Given the description of an element on the screen output the (x, y) to click on. 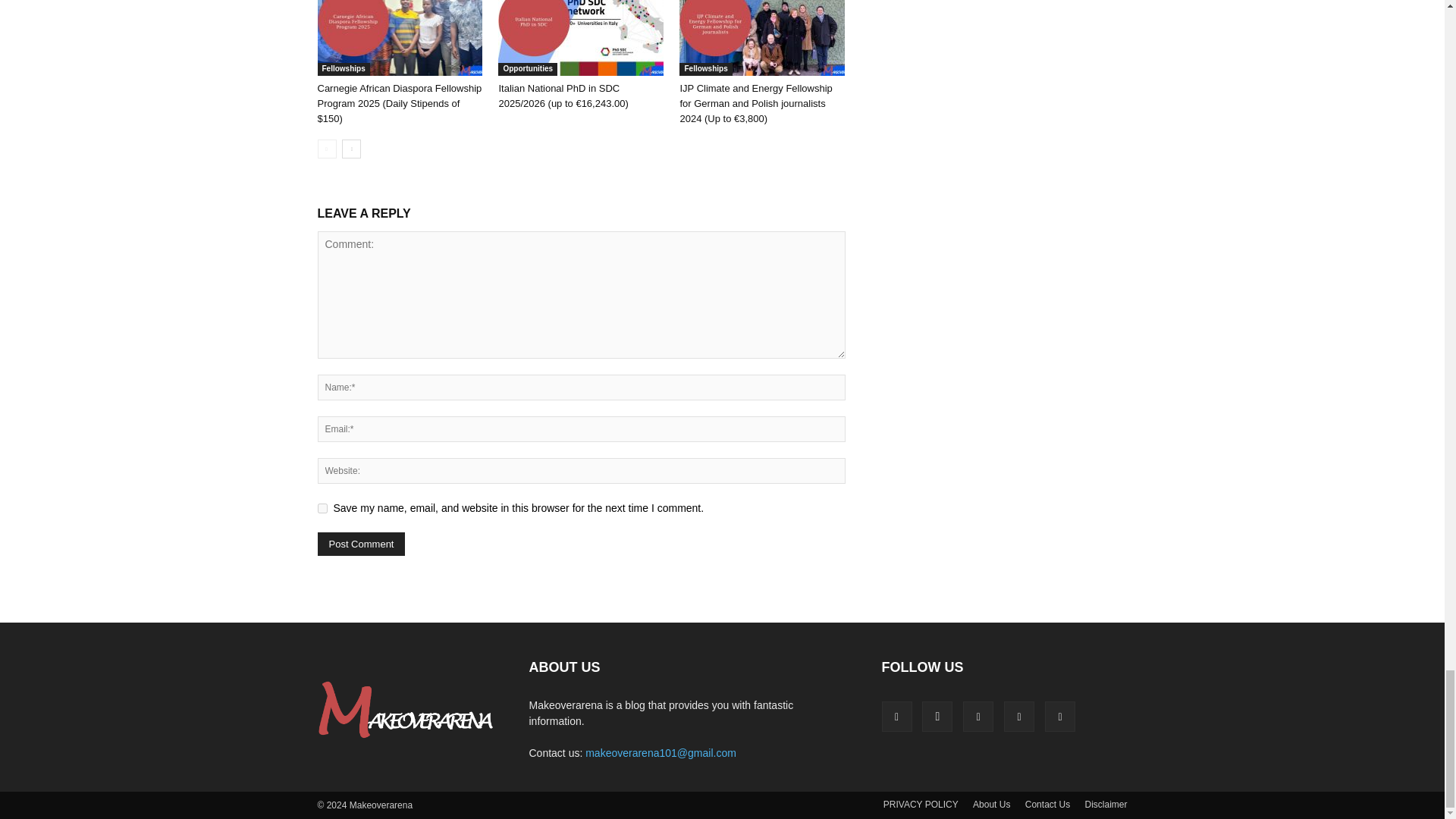
Post Comment (360, 544)
yes (321, 508)
